Given the description of an element on the screen output the (x, y) to click on. 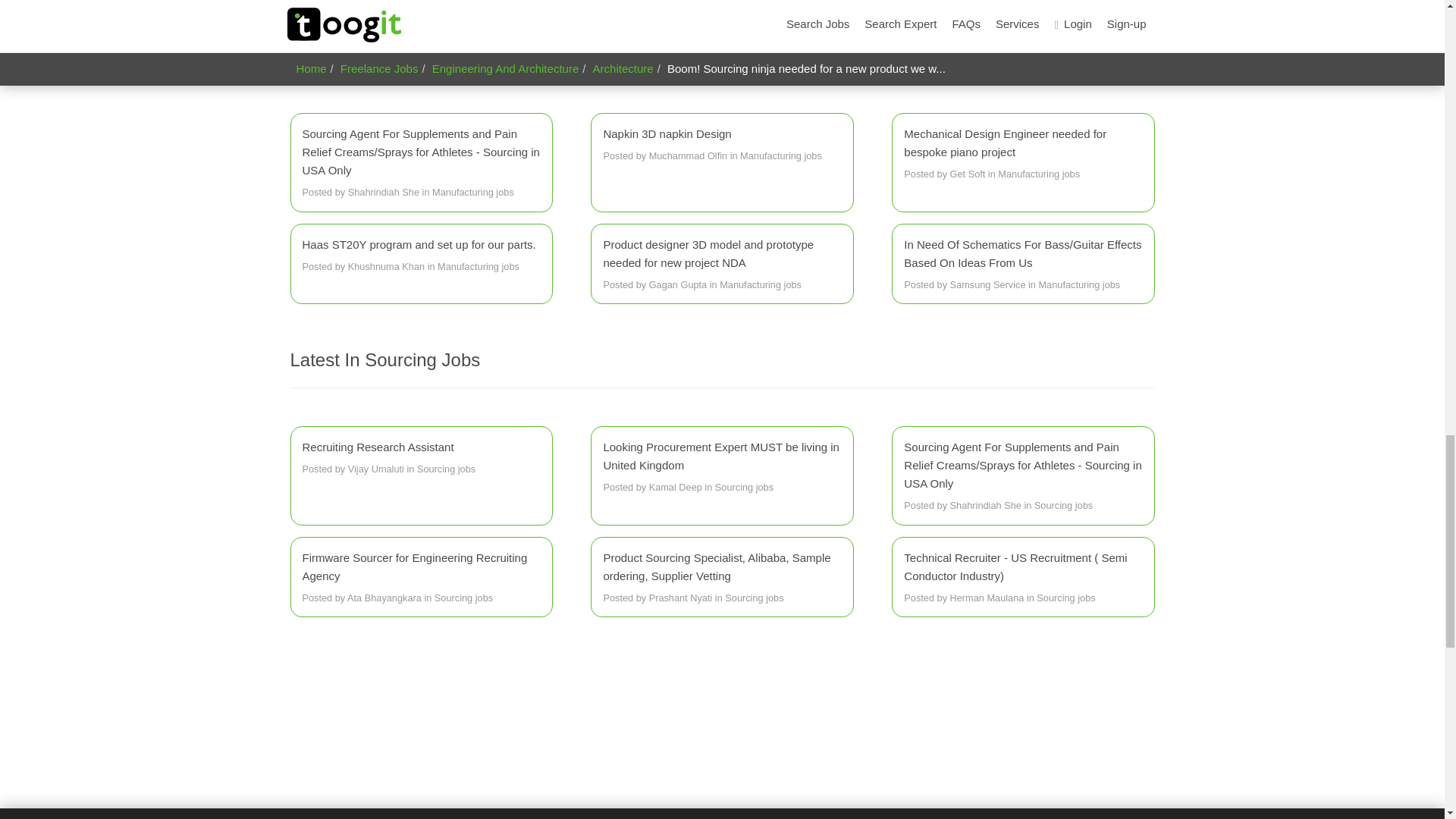
In Manufacturing: Napkin 3D napkin Design (721, 144)
